Given the description of an element on the screen output the (x, y) to click on. 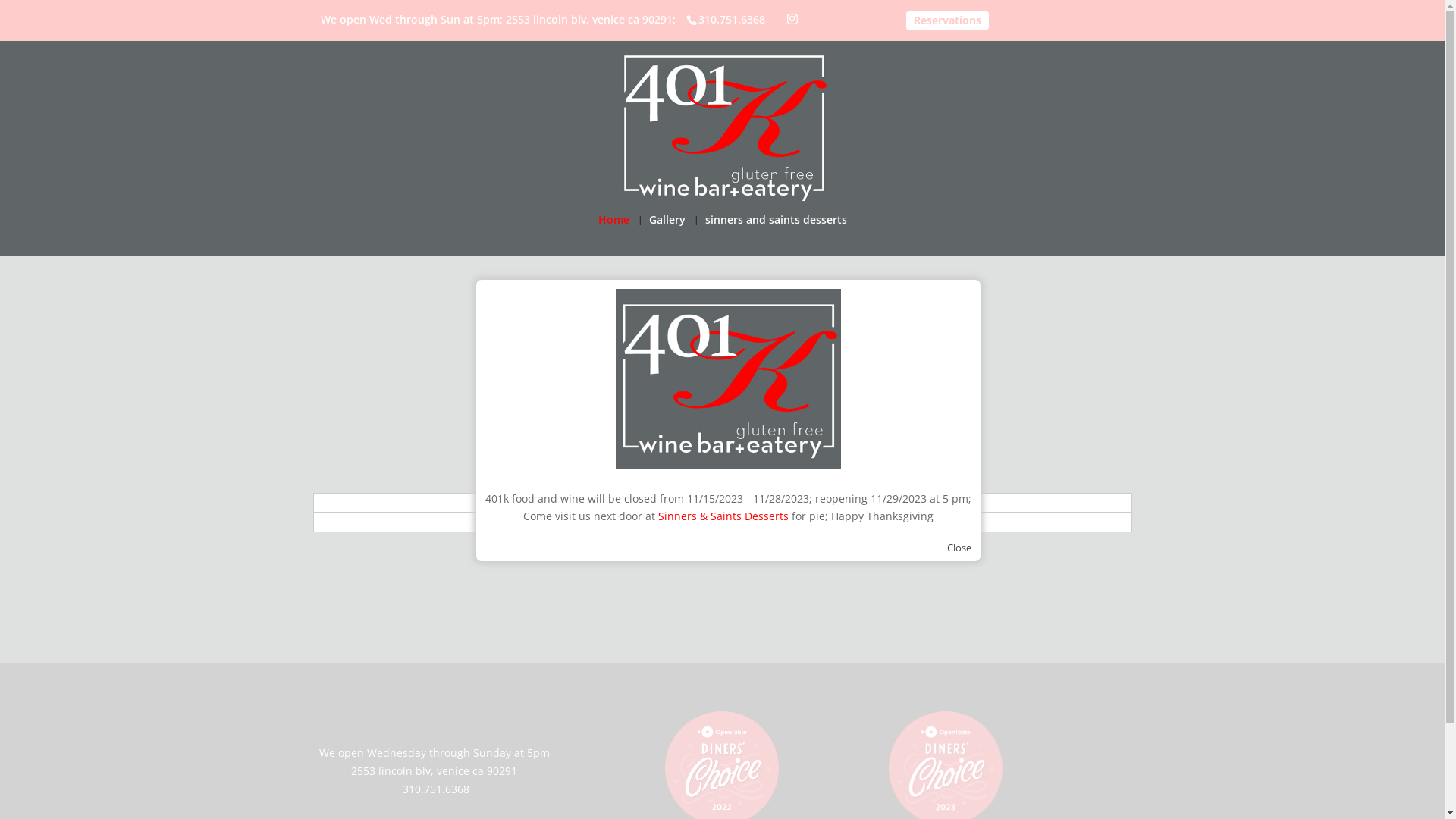
310.751.6368 Element type: text (729, 19)
75C59B9A-28FC-4ED7-A505-D9BABAE61948 Element type: hover (448, 381)
Gallery Element type: text (667, 234)
Home Element type: text (612, 234)
17561423-C464-4CE8-884F-948D913F5E93 Element type: hover (1002, 381)
2E27593C-C2D2-4E96-871F-CE0DA0264FD9 Element type: hover (725, 381)
sinners and saints desserts Element type: text (776, 234)
Reservations Element type: text (947, 20)
310.751.6368 Element type: text (435, 788)
Sinners & Saints Desserts Element type: text (723, 515)
Close Element type: text (958, 547)
